Given the description of an element on the screen output the (x, y) to click on. 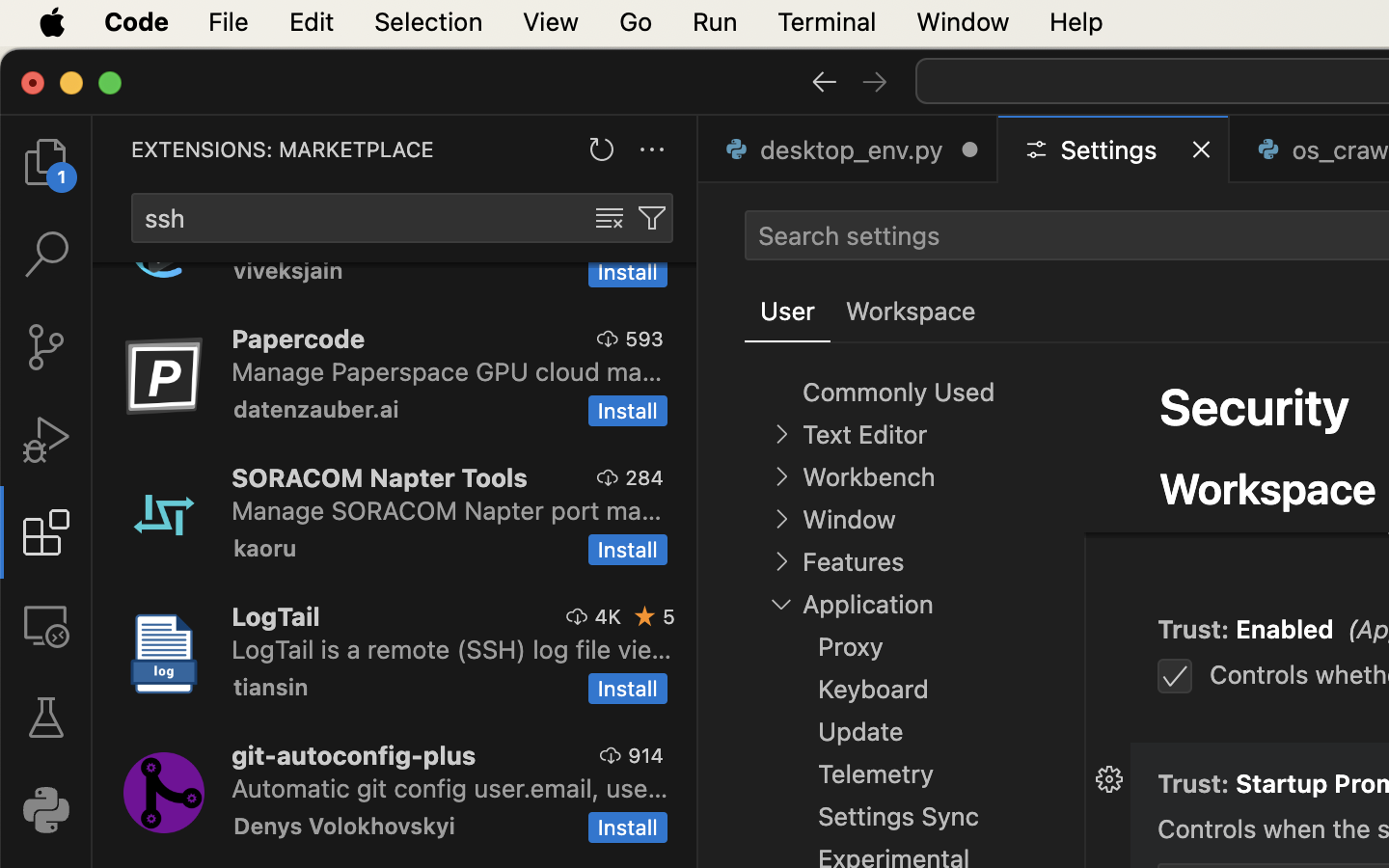
Window Element type: AXStaticText (849, 519)
 Element type: AXStaticText (780, 433)
Telemetry Element type: AXStaticText (875, 773)
284 Element type: AXStaticText (644, 476)
 Element type: AXStaticText (651, 217)
